Given the description of an element on the screen output the (x, y) to click on. 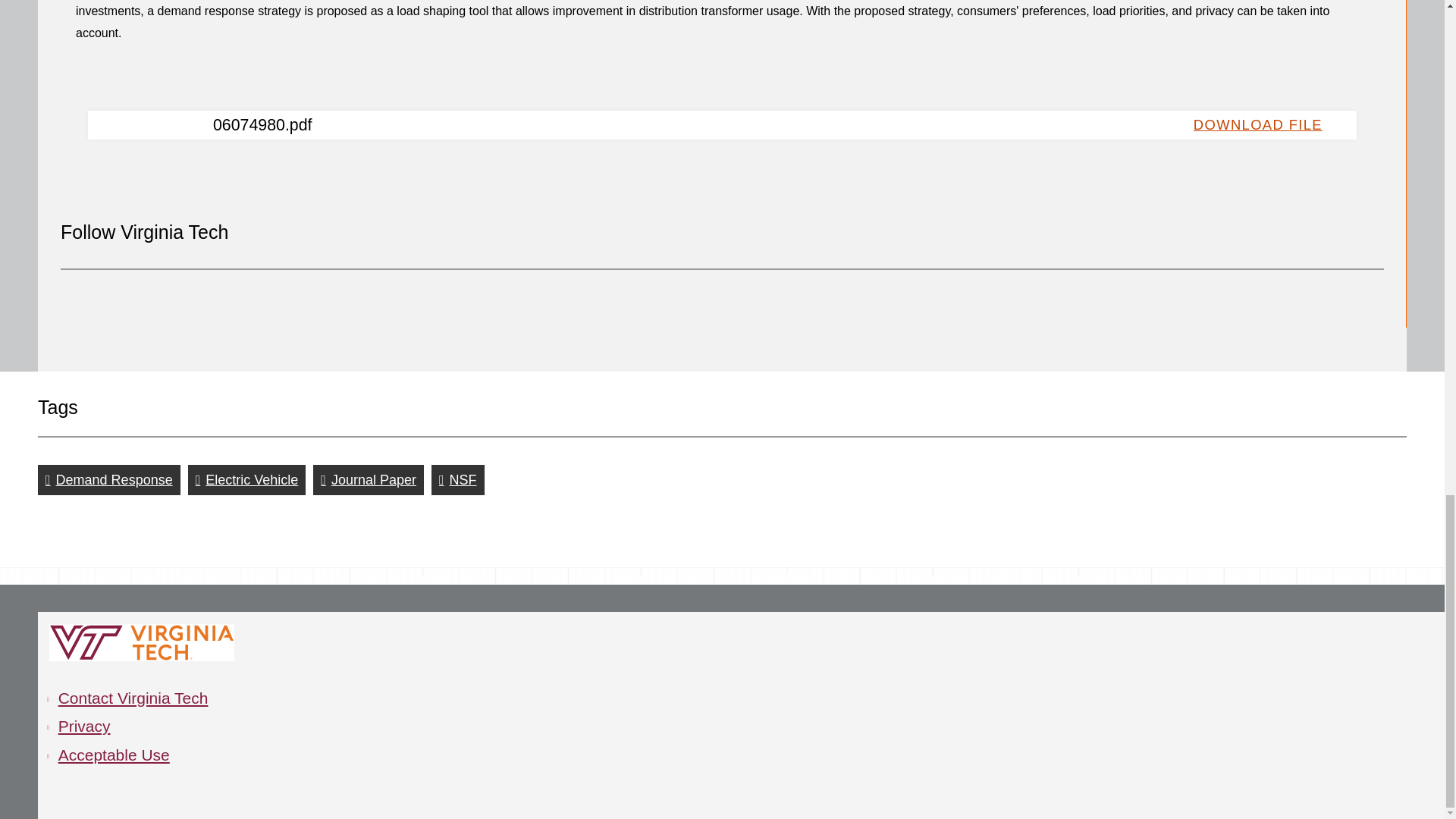
Virginia Tech Home (141, 642)
Download  (1263, 124)
